Given the description of an element on the screen output the (x, y) to click on. 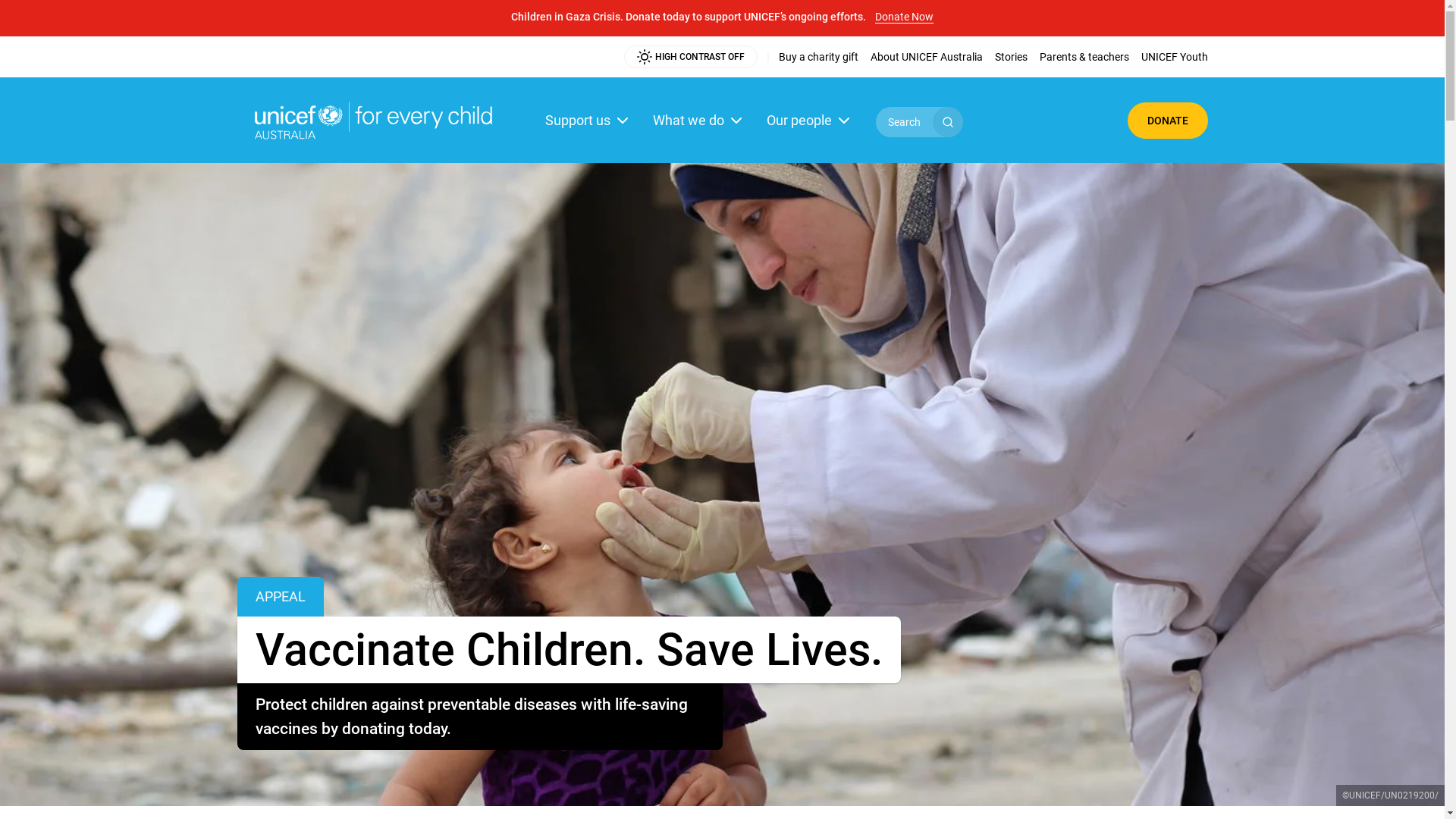
About UNICEF Australia Element type: text (926, 56)
Parents & teachers Element type: text (1083, 56)
UNICEF Youth Element type: text (1173, 56)
Our people Element type: text (808, 120)
Donate Now Element type: text (904, 12)
What we do Element type: text (698, 120)
DONATE Element type: text (1166, 119)
Support us Element type: text (587, 120)
Stories Element type: text (1010, 56)
HIGH CONTRAST OFF Element type: text (689, 56)
Buy a charity gift Element type: text (817, 56)
Submit the search query. Element type: hover (947, 121)
